Given the description of an element on the screen output the (x, y) to click on. 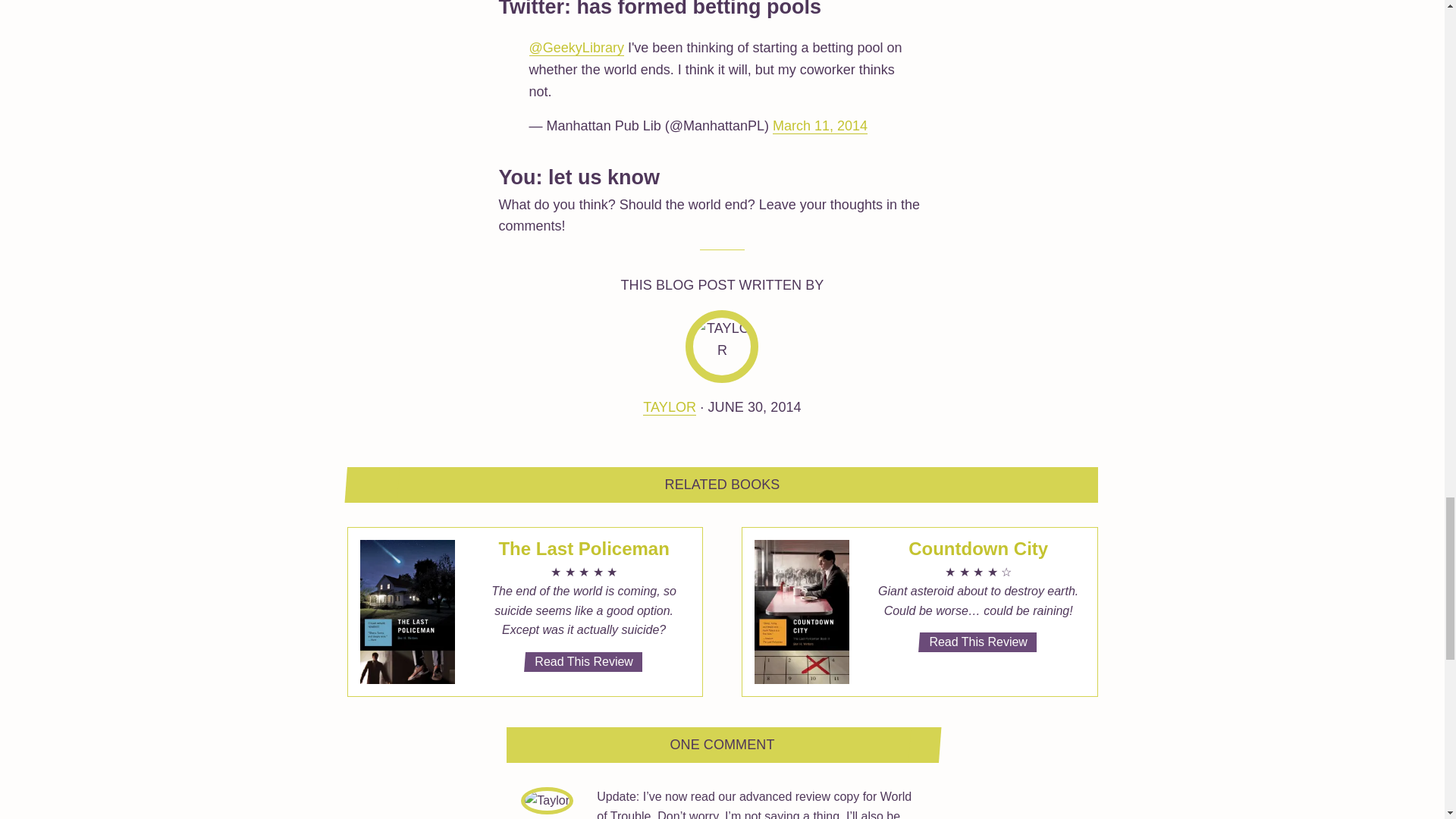
TAYLOR (669, 407)
March 11, 2014 (820, 125)
Mon, 30 Jun 2014 08:36:52 -0700 (753, 406)
Posts by Taylor (669, 407)
